Given the description of an element on the screen output the (x, y) to click on. 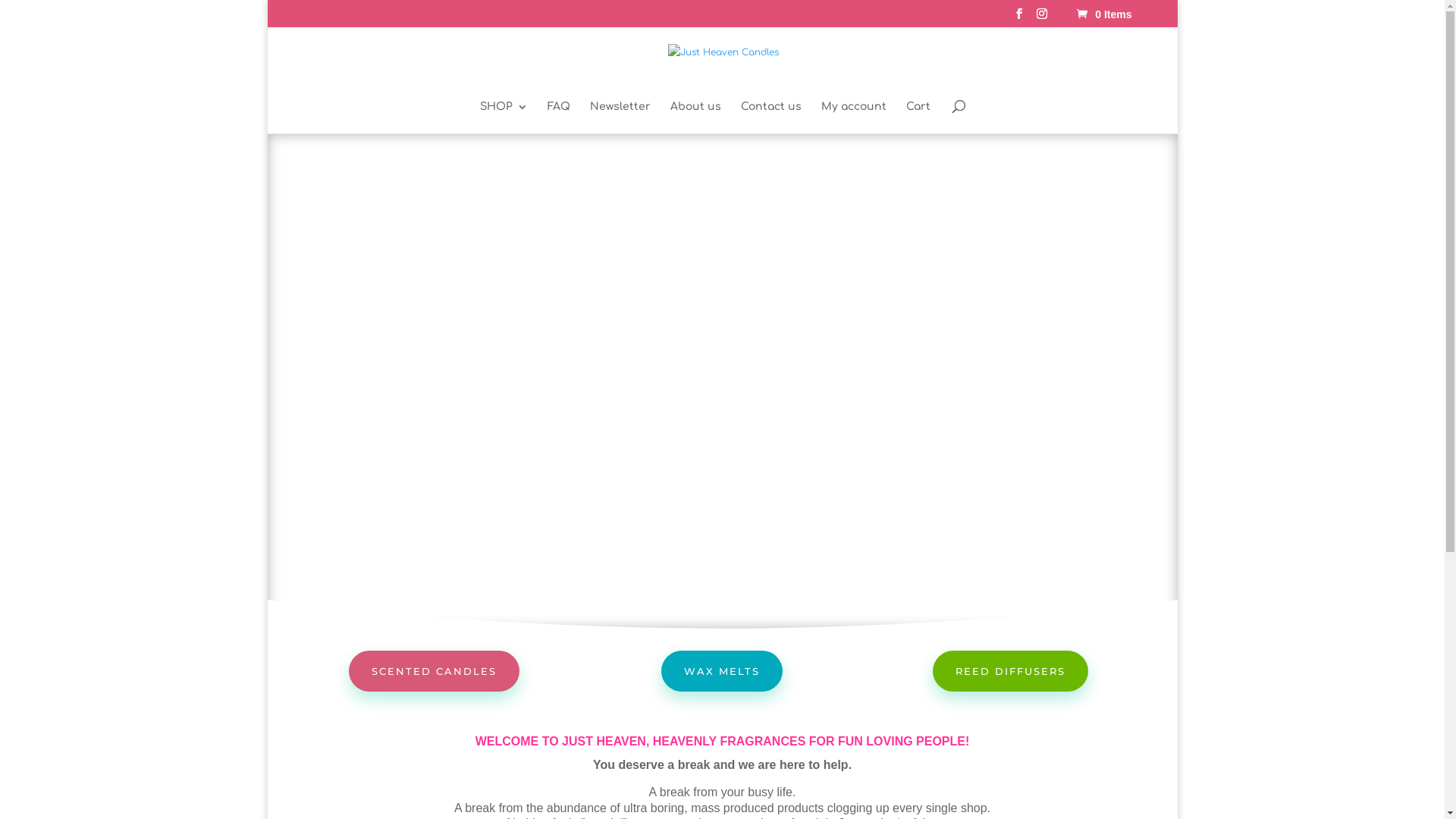
0 Items Element type: text (1102, 13)
WAX MELTS Element type: text (721, 670)
Contact us Element type: text (770, 117)
My account Element type: text (852, 117)
About us Element type: text (695, 117)
SHOP Element type: text (503, 117)
FAQ Element type: text (558, 117)
Cart Element type: text (917, 117)
Newsletter Element type: text (619, 117)
REED DIFFUSERS Element type: text (1010, 670)
SCENTED CANDLES Element type: text (433, 670)
